Given the description of an element on the screen output the (x, y) to click on. 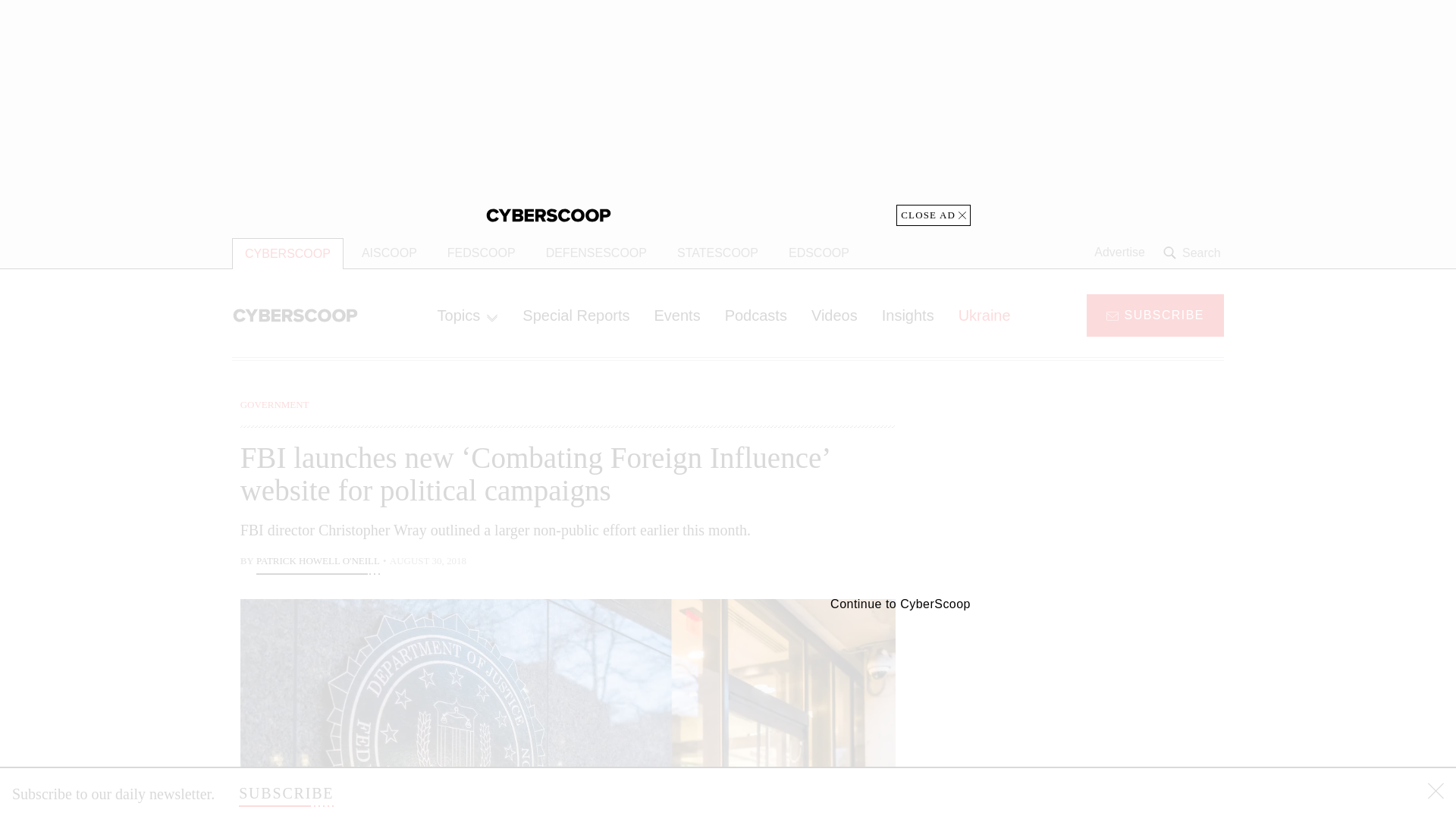
Podcasts (756, 315)
Special Reports (576, 315)
Ukraine (984, 315)
SUBSCRIBE (1155, 314)
EDSCOOP (818, 253)
Topics (468, 315)
Patrick Howell O'Neill (318, 562)
DEFENSESCOOP (596, 253)
AISCOOP (389, 253)
Events (676, 315)
Advertise (1119, 252)
FEDSCOOP (481, 253)
Videos (834, 315)
